Given the description of an element on the screen output the (x, y) to click on. 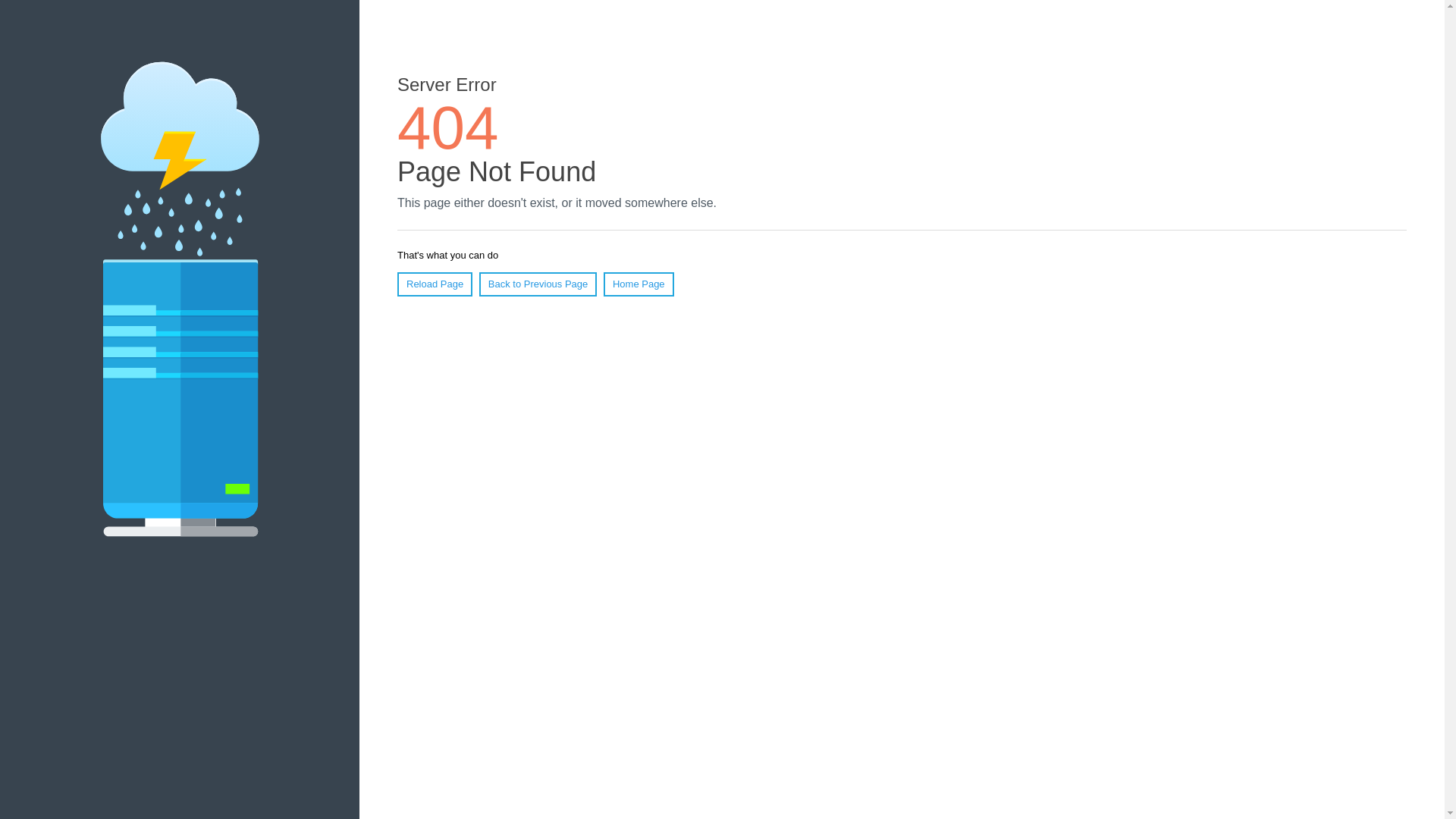
Back to Previous Page Element type: text (538, 284)
Home Page Element type: text (638, 284)
Reload Page Element type: text (434, 284)
